Given the description of an element on the screen output the (x, y) to click on. 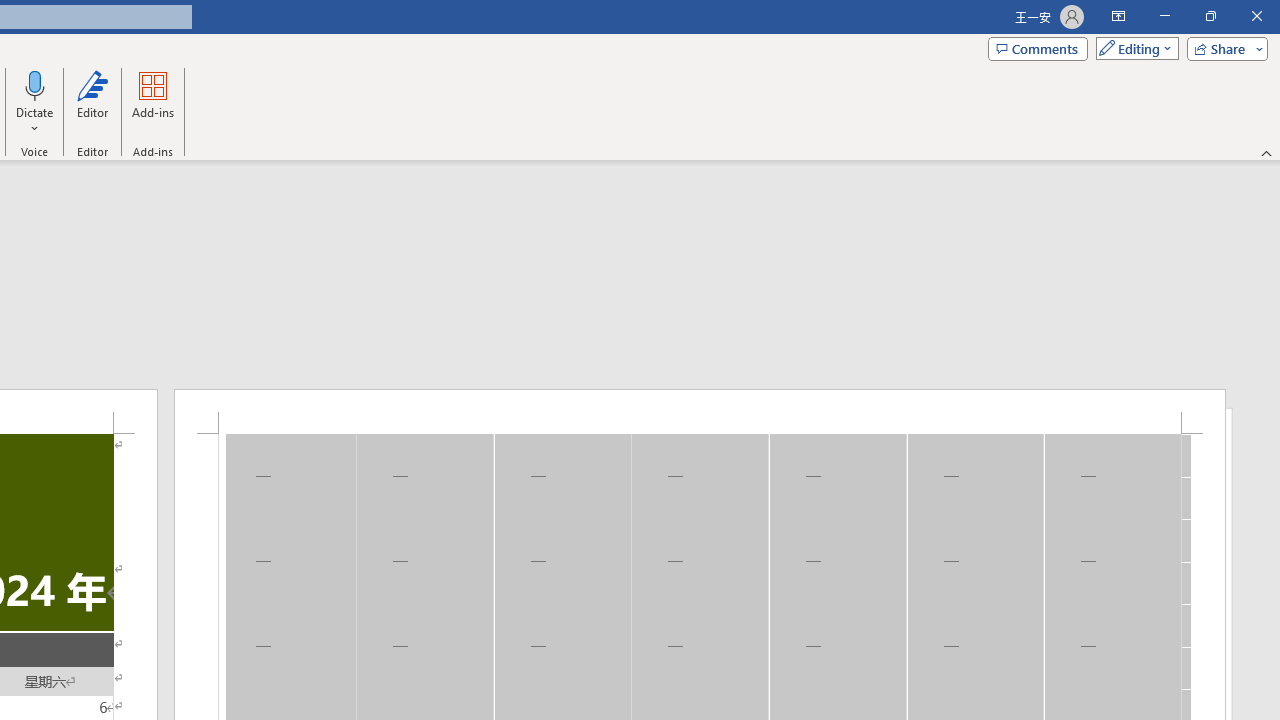
Header -Section 1- (700, 411)
